Given the description of an element on the screen output the (x, y) to click on. 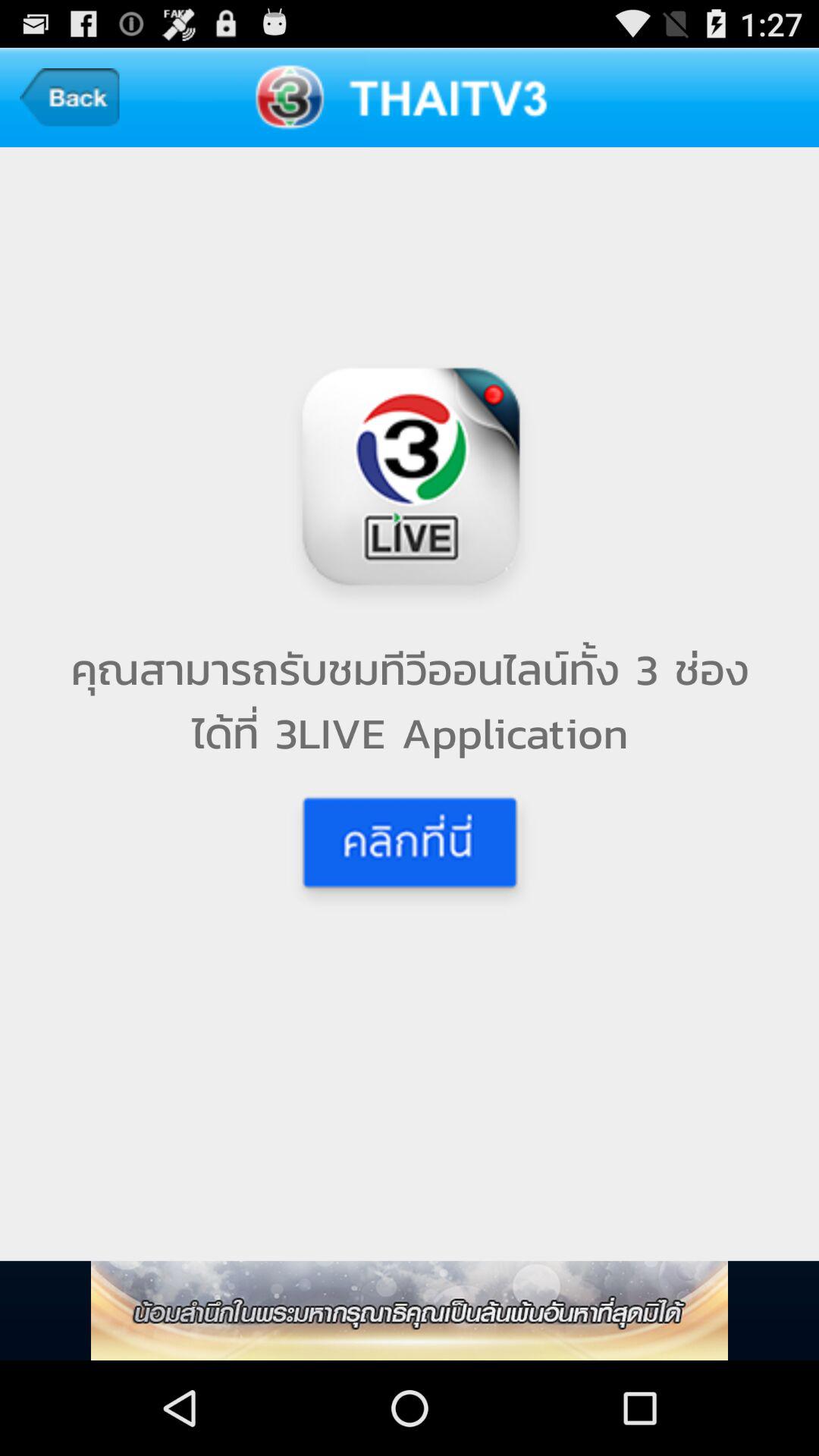
ho back (69, 97)
